Given the description of an element on the screen output the (x, y) to click on. 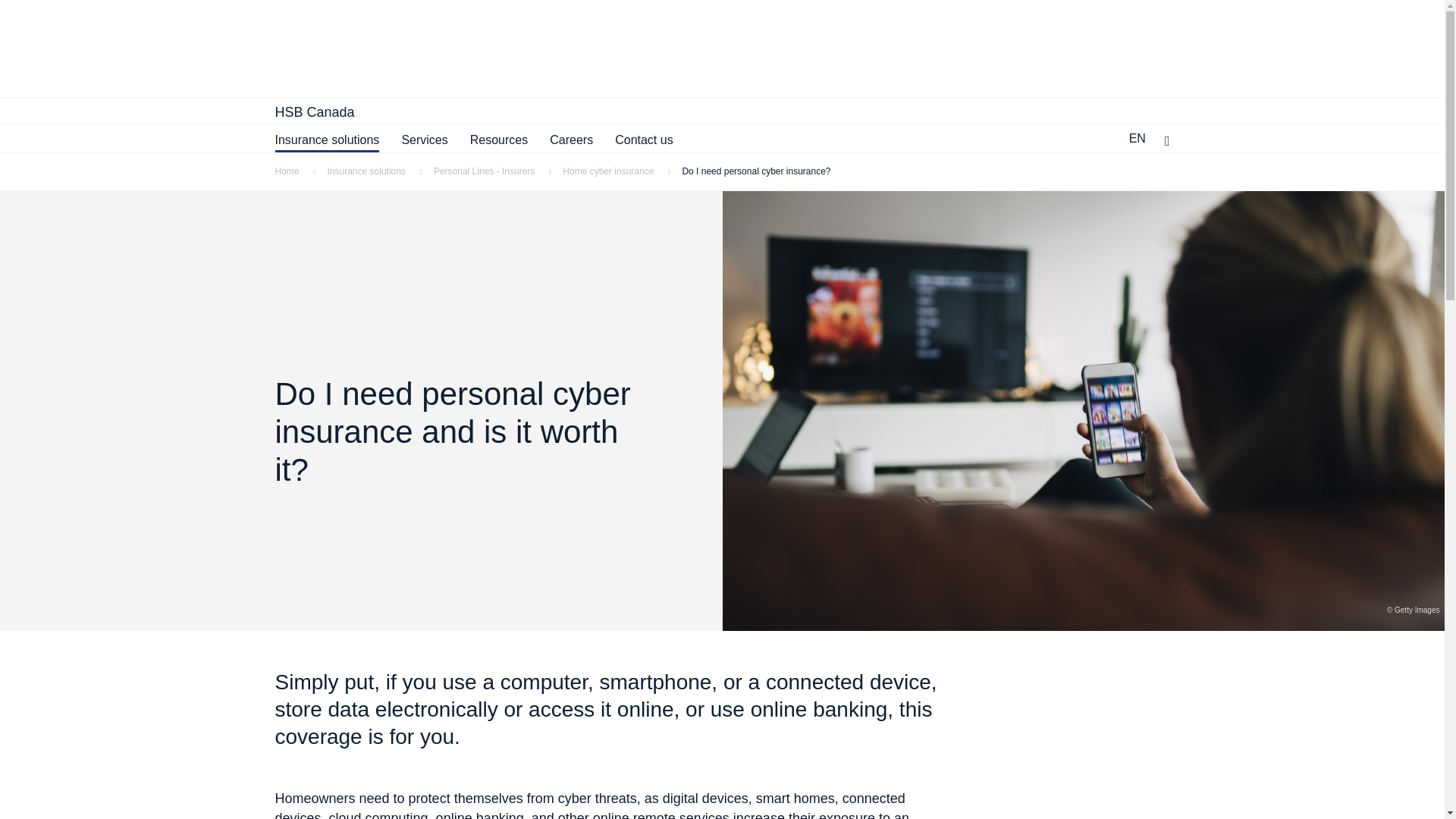
Insurance solutions (380, 171)
Careers (571, 139)
Personal Lines - Insurers (497, 171)
Services (423, 139)
Home cyber insurance (621, 171)
Home (300, 171)
Insurance solutions (326, 139)
Hartford Steam Boiler (542, 48)
Resources (498, 139)
Contact us (643, 139)
